Given the description of an element on the screen output the (x, y) to click on. 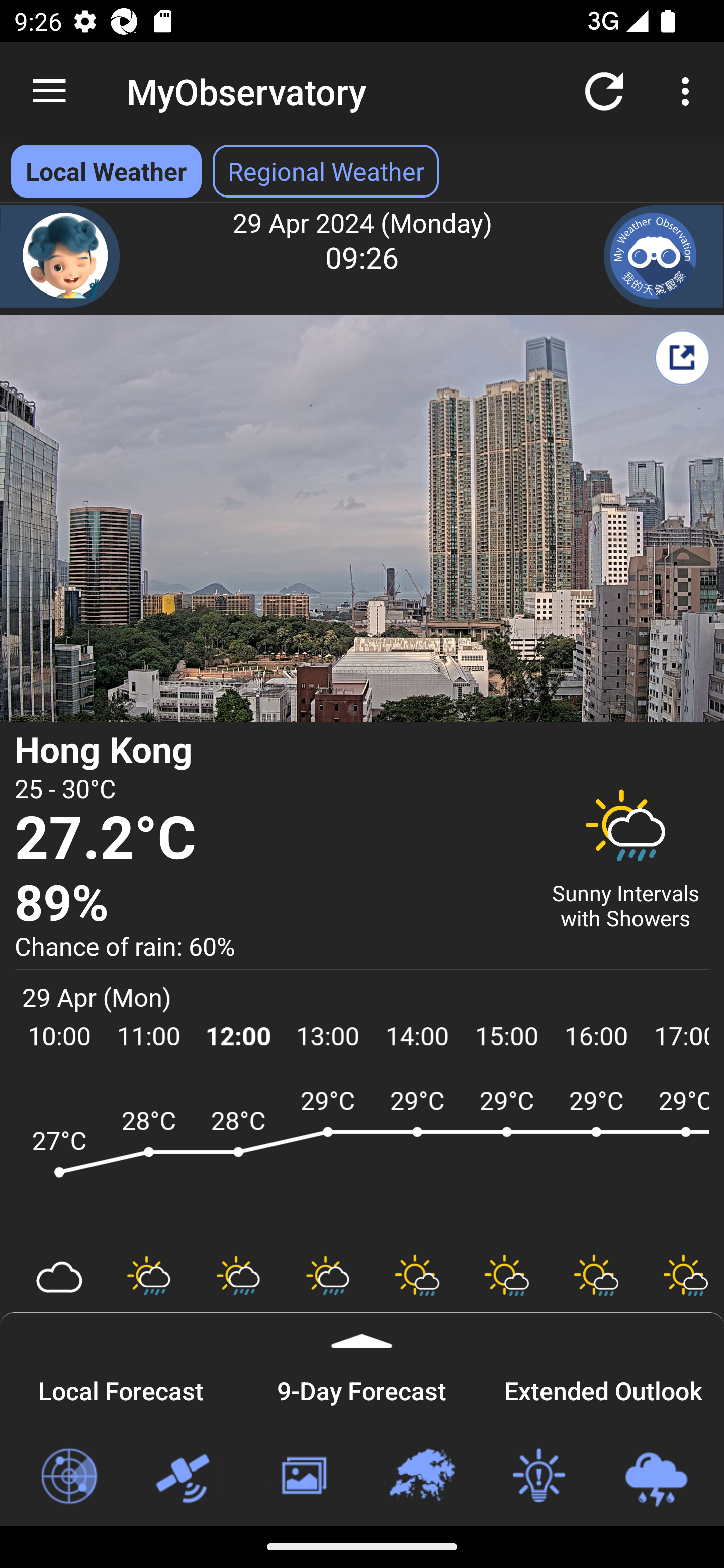
Navigate up (49, 91)
Refresh (604, 90)
More options (688, 90)
Local Weather Local Weather selected (105, 170)
Regional Weather Select Regional Weather (325, 170)
Chatbot (60, 256)
My Weather Observation (663, 256)
Share My Weather Report (681, 357)
27.2°C Temperature
27.2 degree Celsius (270, 839)
89% Relative Humidity
89 percent (270, 903)
ARWF (361, 1160)
Expand (362, 1330)
Local Forecast (120, 1387)
Extended Outlook (603, 1387)
Radar Images (68, 1476)
Satellite Images (185, 1476)
Weather Photos (302, 1476)
Regional Weather (420, 1476)
Weather Tips (537, 1476)
Loc-based Rain & Lightning Forecast (655, 1476)
